Given the description of an element on the screen output the (x, y) to click on. 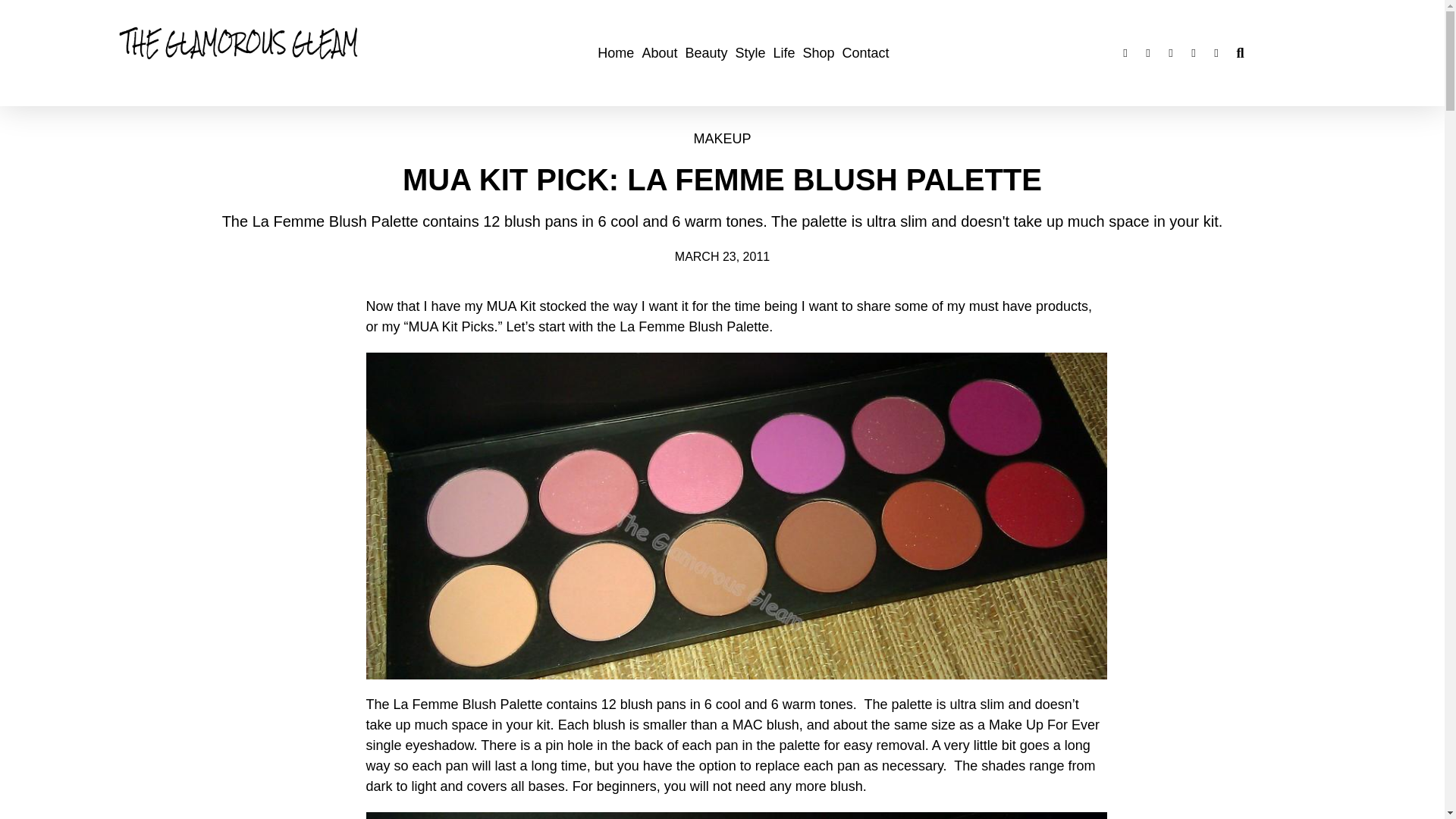
About (659, 53)
Style (749, 53)
Shop (818, 53)
Home (615, 53)
Beauty (705, 53)
MAKEUP (722, 138)
Contact (865, 53)
